Given the description of an element on the screen output the (x, y) to click on. 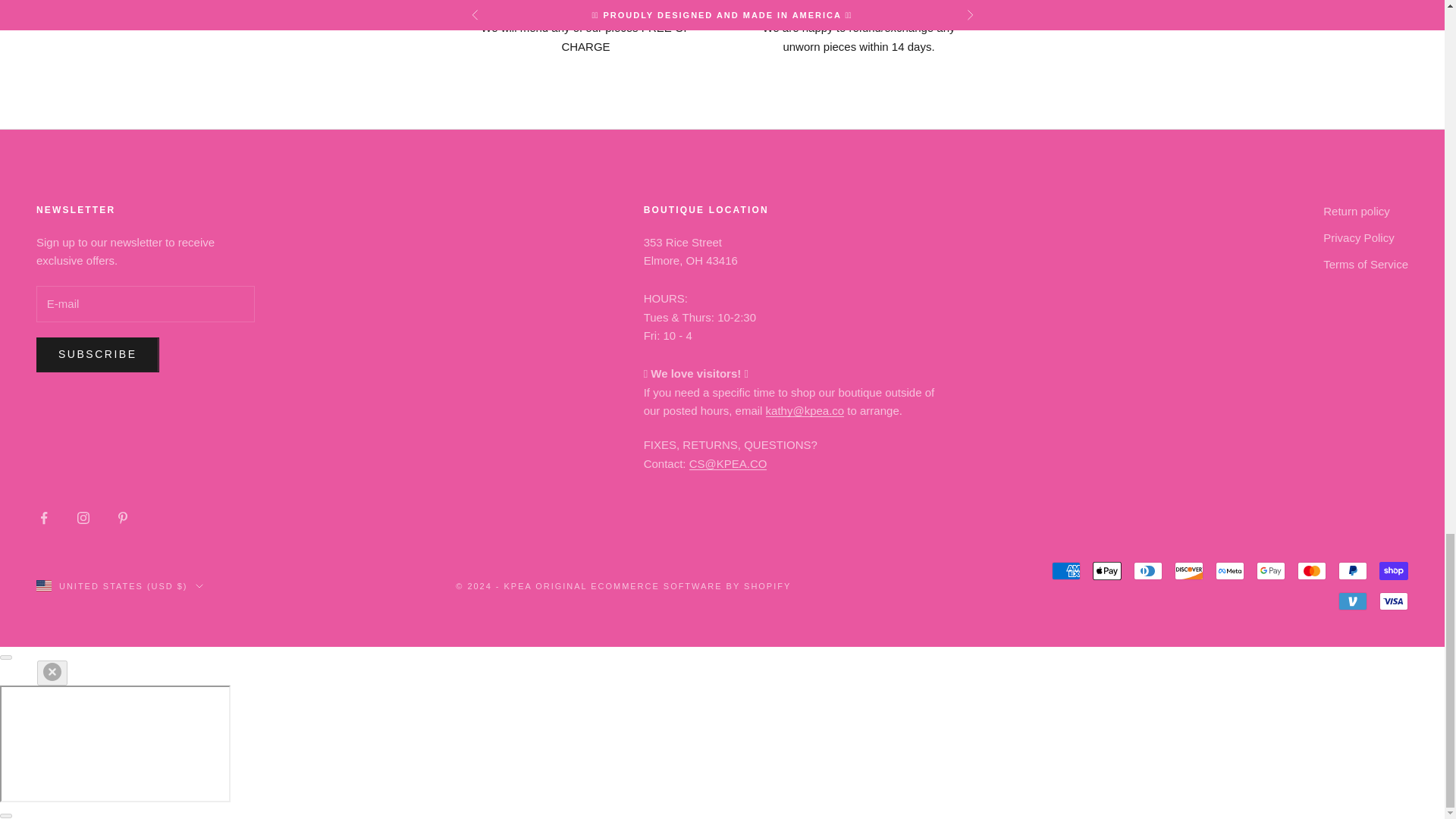
SUBSCRIBE (97, 354)
Terms of Service (1365, 264)
Privacy Policy (1358, 237)
Return policy (1356, 210)
